Given the description of an element on the screen output the (x, y) to click on. 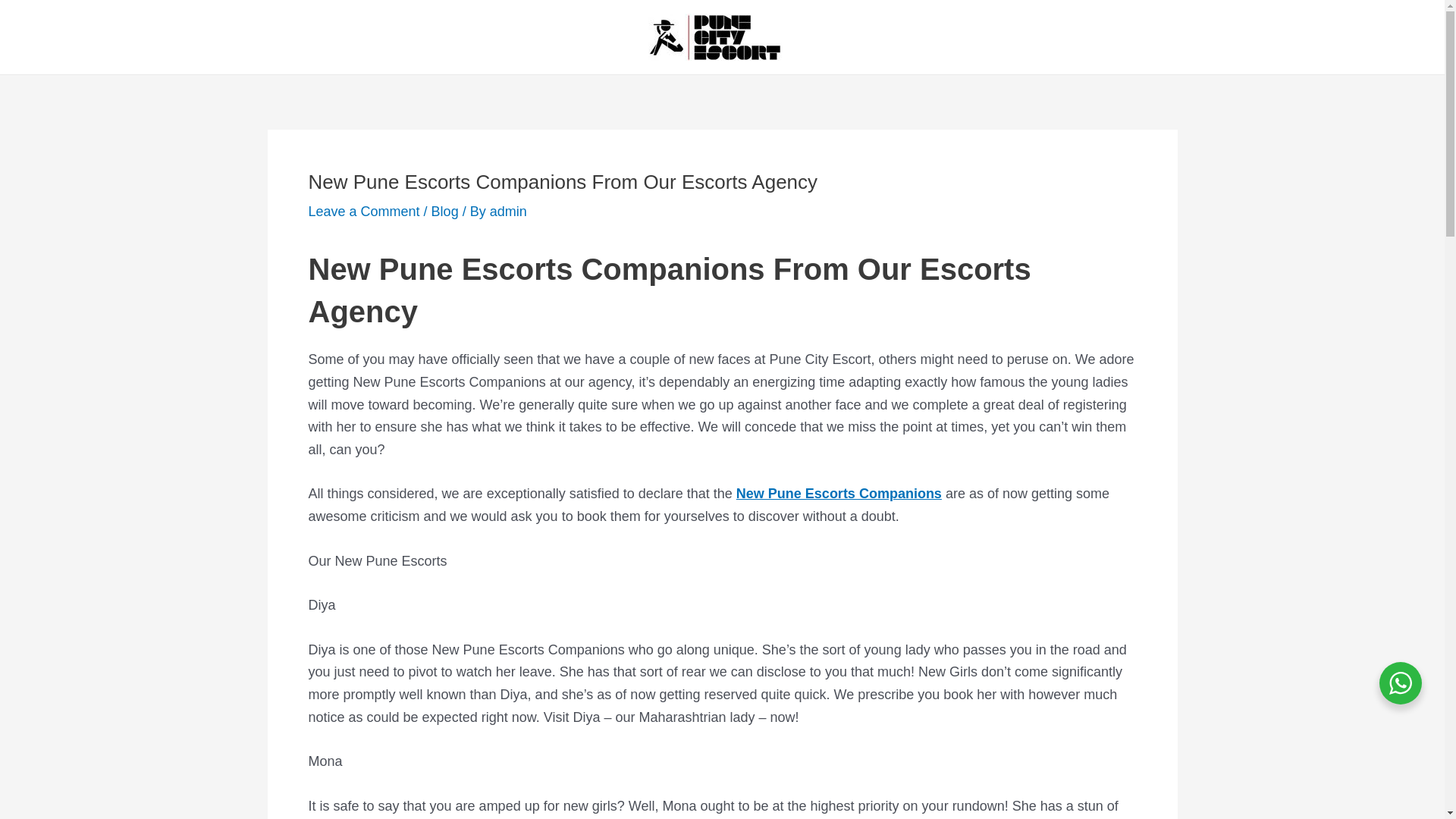
admin (508, 211)
View all posts by admin (508, 211)
New Pune Escorts Companions (839, 493)
Blog (444, 211)
Leave a Comment (363, 211)
